Given the description of an element on the screen output the (x, y) to click on. 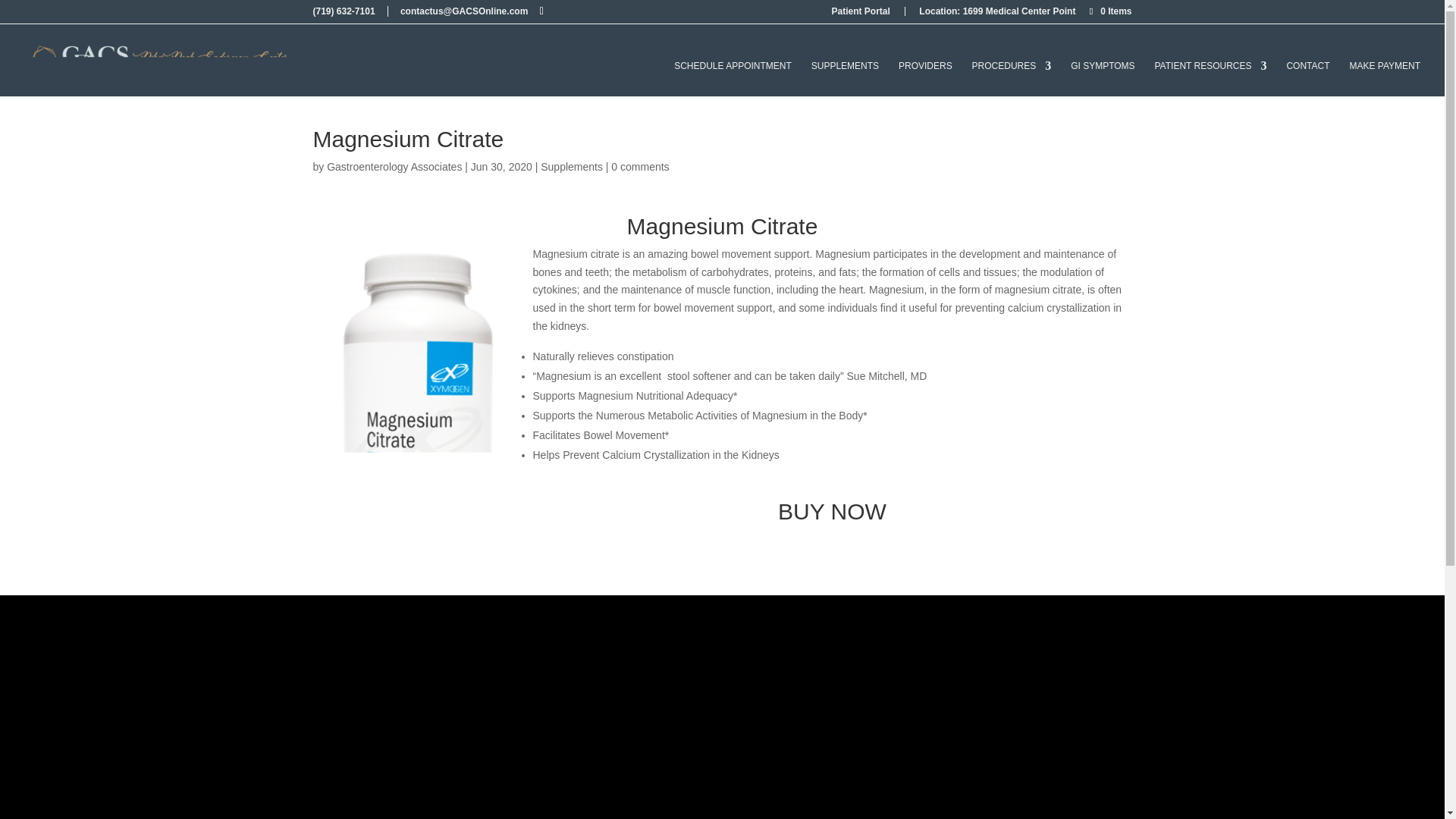
Supplements (571, 166)
MAKE PAYMENT (1385, 66)
GI SYMPTOMS (1102, 66)
SUPPLEMENTS (844, 66)
PROVIDERS (925, 66)
Gastroenterology Associates (393, 166)
PROCEDURES (1011, 66)
0 Items (1108, 10)
Posts by Gastroenterology Associates (393, 166)
BUY NOW (831, 511)
